Given the description of an element on the screen output the (x, y) to click on. 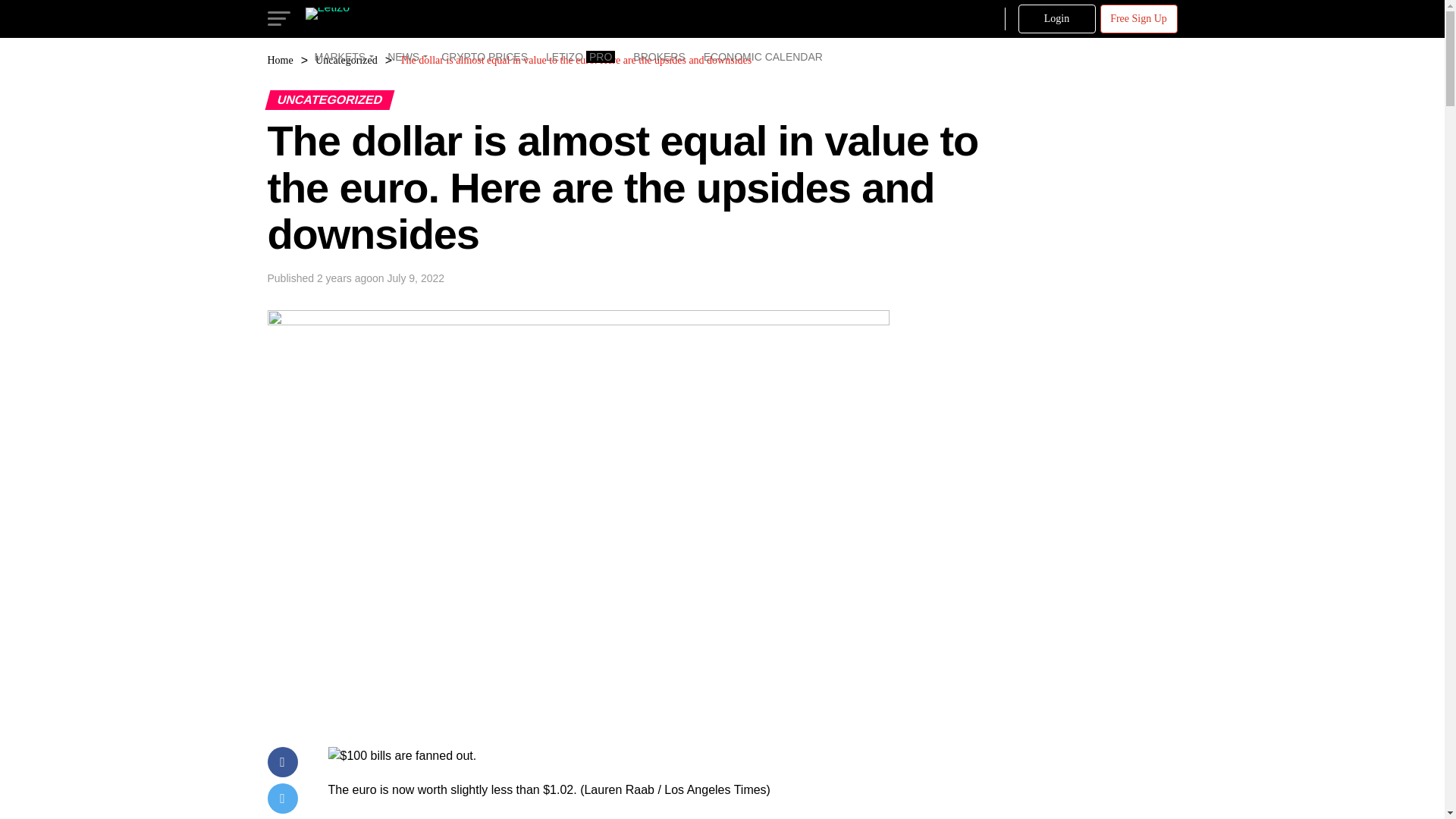
MARKETS (341, 56)
NEWS (405, 56)
Go to the Uncategorized Category archives. (346, 60)
Go to Letizo. (279, 60)
